Given the description of an element on the screen output the (x, y) to click on. 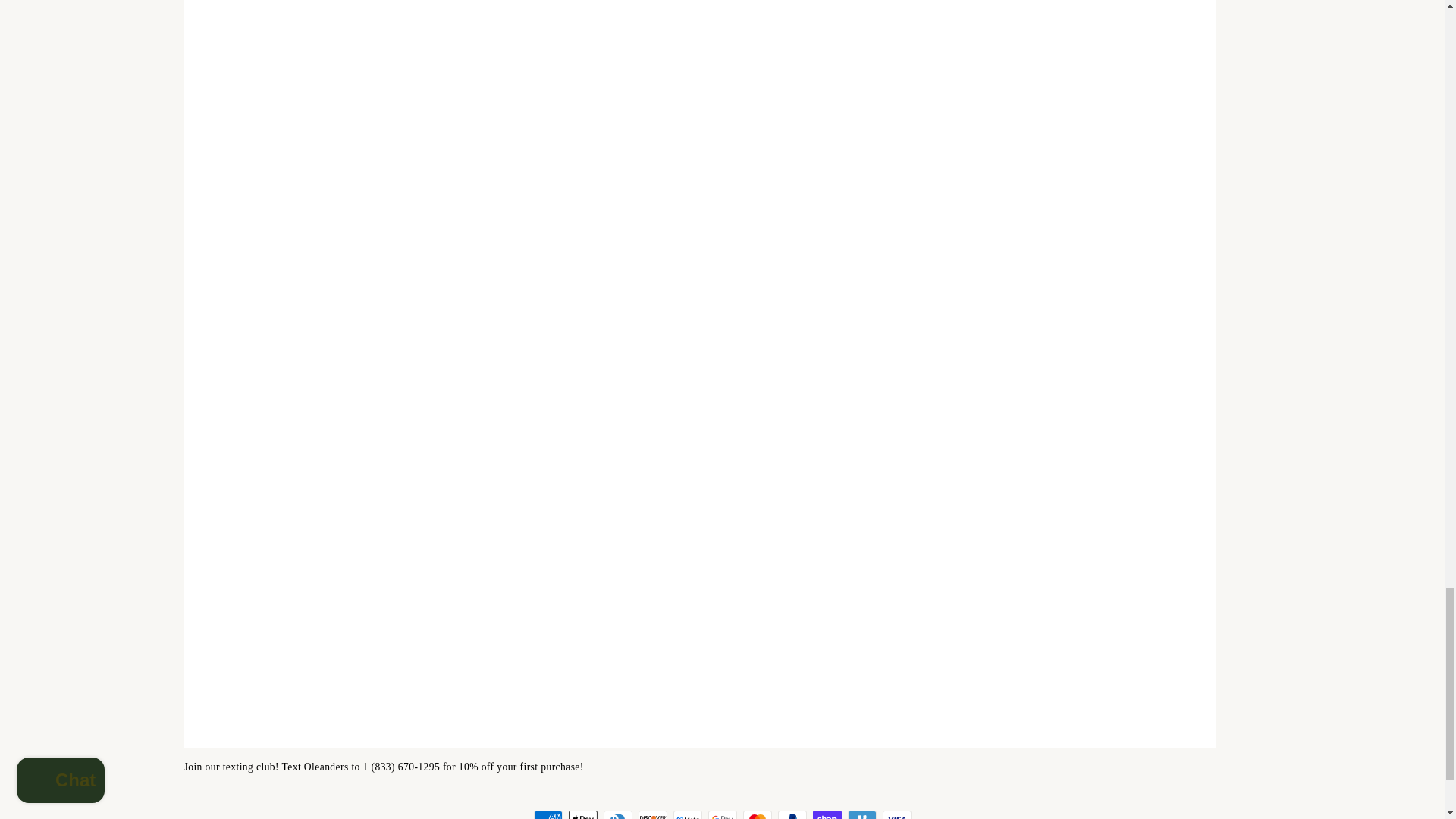
Mastercard (756, 814)
American Express (548, 814)
Shop Pay (826, 814)
Venmo (861, 814)
Visa (896, 814)
Diners Club (617, 814)
Google Pay (721, 814)
PayPal (791, 814)
Meta Pay (686, 814)
Discover (652, 814)
